Given the description of an element on the screen output the (x, y) to click on. 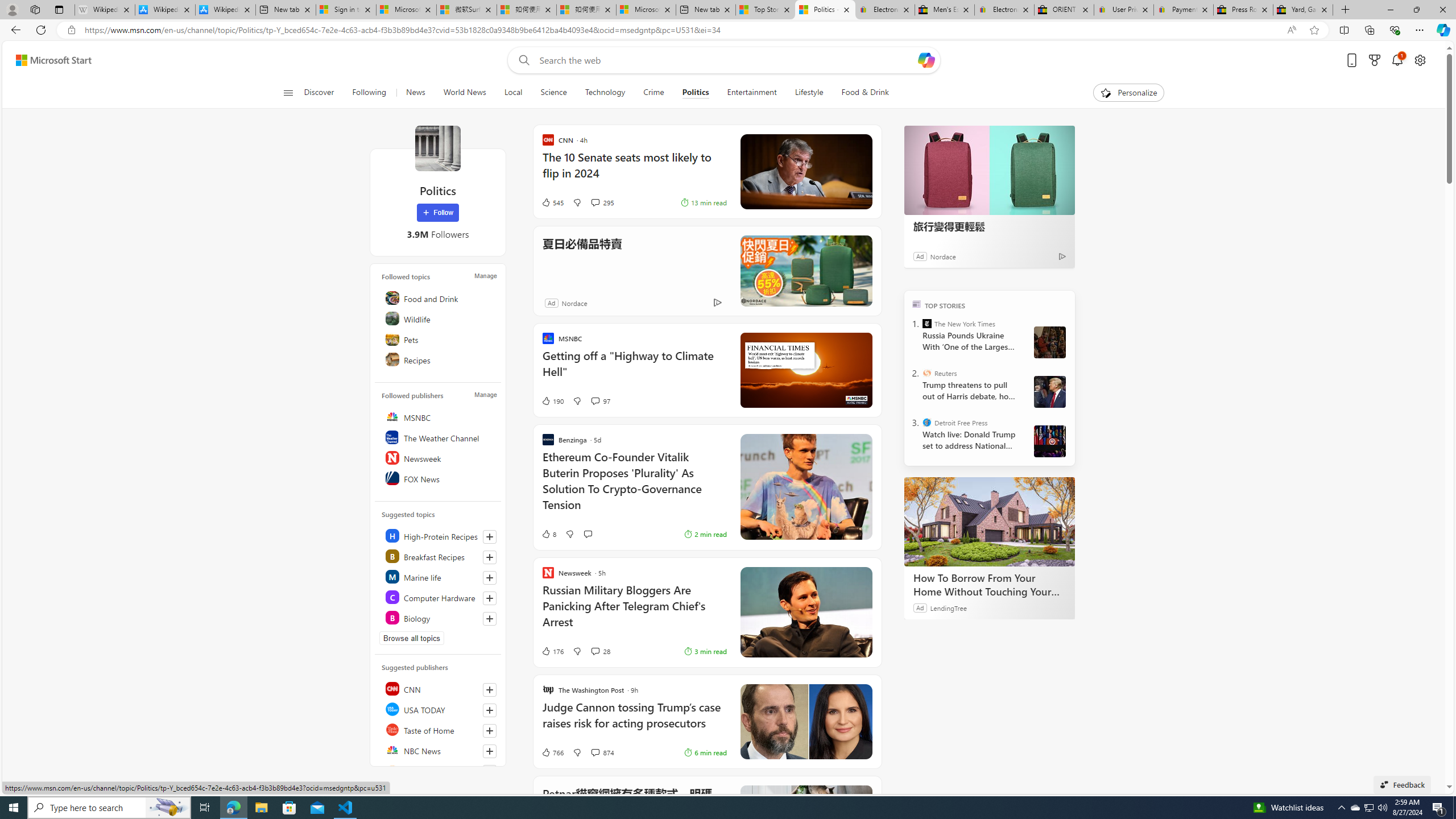
190 Like (551, 400)
Class: highlight (439, 617)
The New York Times (927, 323)
Newsweek (439, 457)
Browse all topics (412, 638)
